Given the description of an element on the screen output the (x, y) to click on. 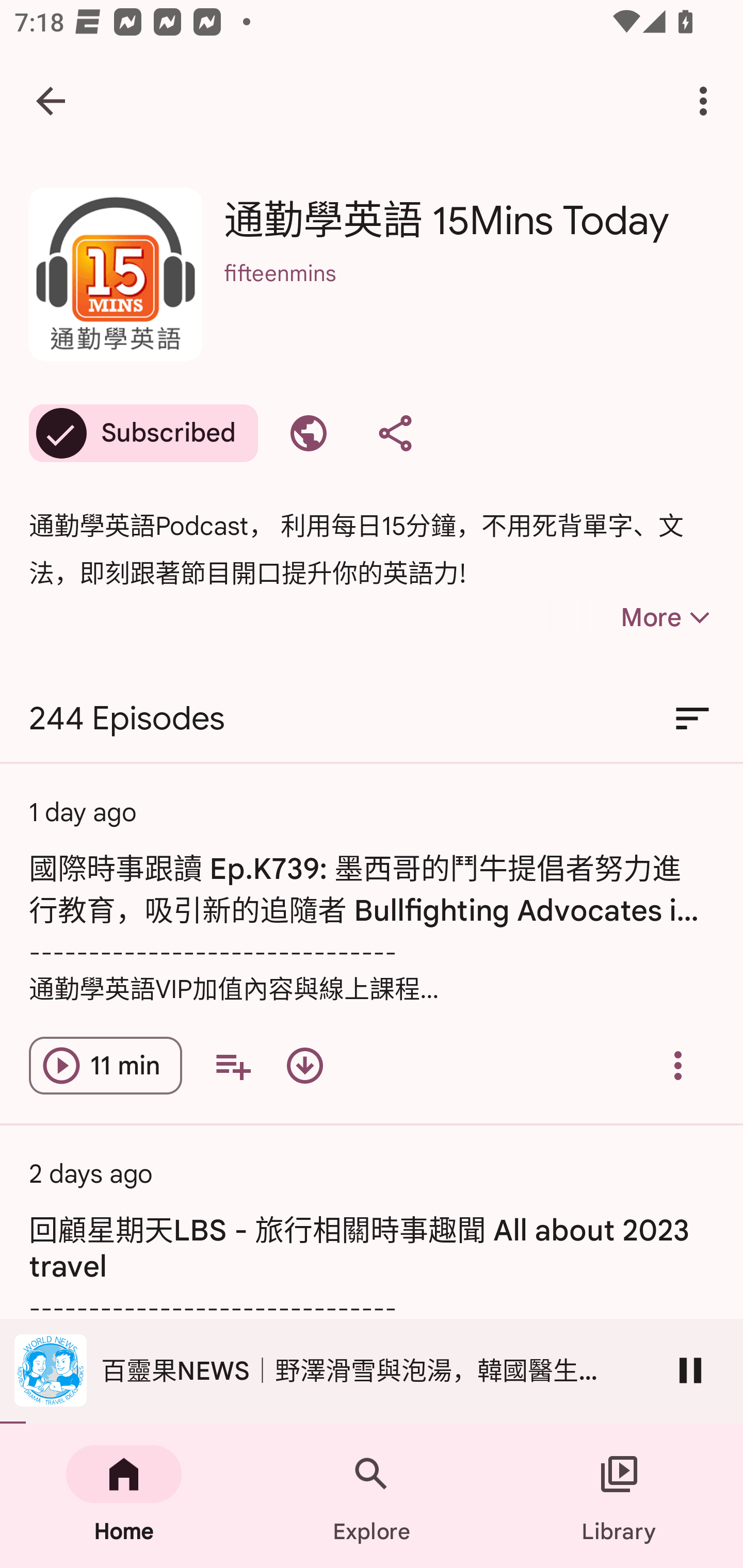
Navigate up (50, 101)
More options (706, 101)
fifteenmins (468, 300)
Subscribed (142, 433)
Visit website (308, 433)
Share (395, 433)
More (631, 616)
Sort (692, 718)
Add to your queue (232, 1065)
Download episode (304, 1065)
Overflow menu (677, 1065)
Pause (690, 1370)
Explore (371, 1495)
Library (619, 1495)
